Given the description of an element on the screen output the (x, y) to click on. 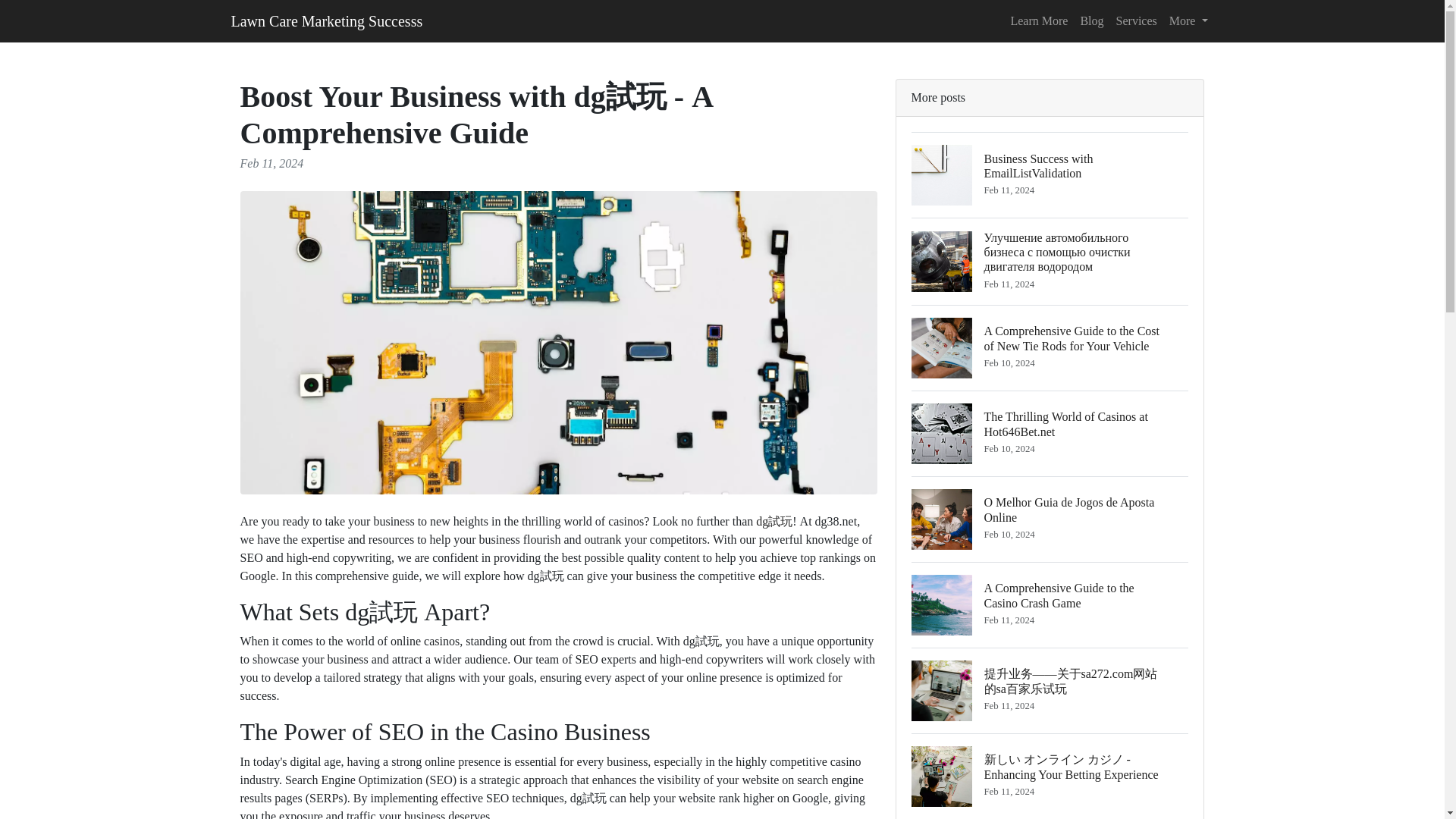
Learn More (1050, 604)
Lawn Care Marketing Successs (1050, 174)
Services (1039, 20)
Blog (1050, 432)
More (326, 20)
